Given the description of an element on the screen output the (x, y) to click on. 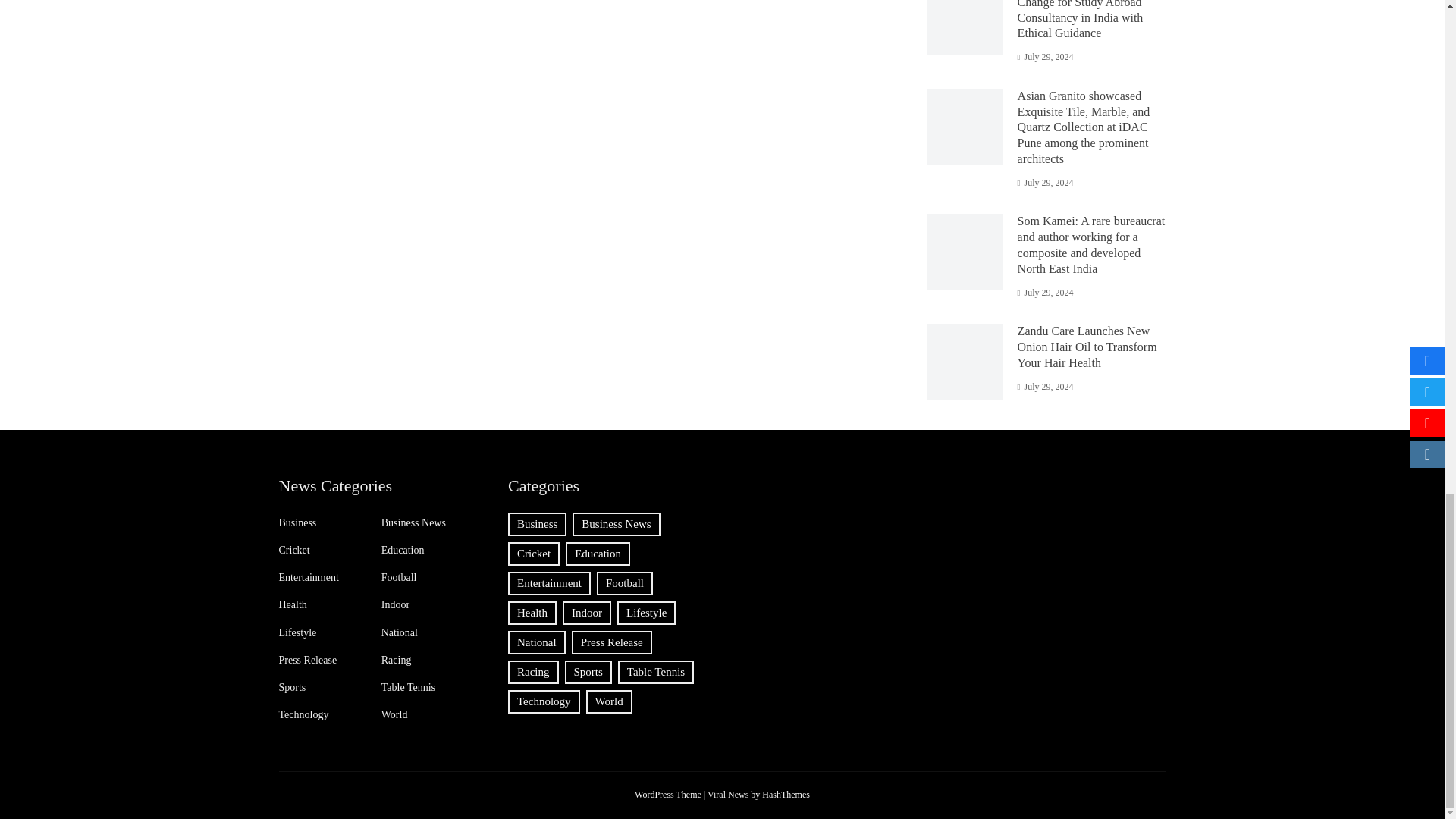
Download Viral News (727, 794)
